Given the description of an element on the screen output the (x, y) to click on. 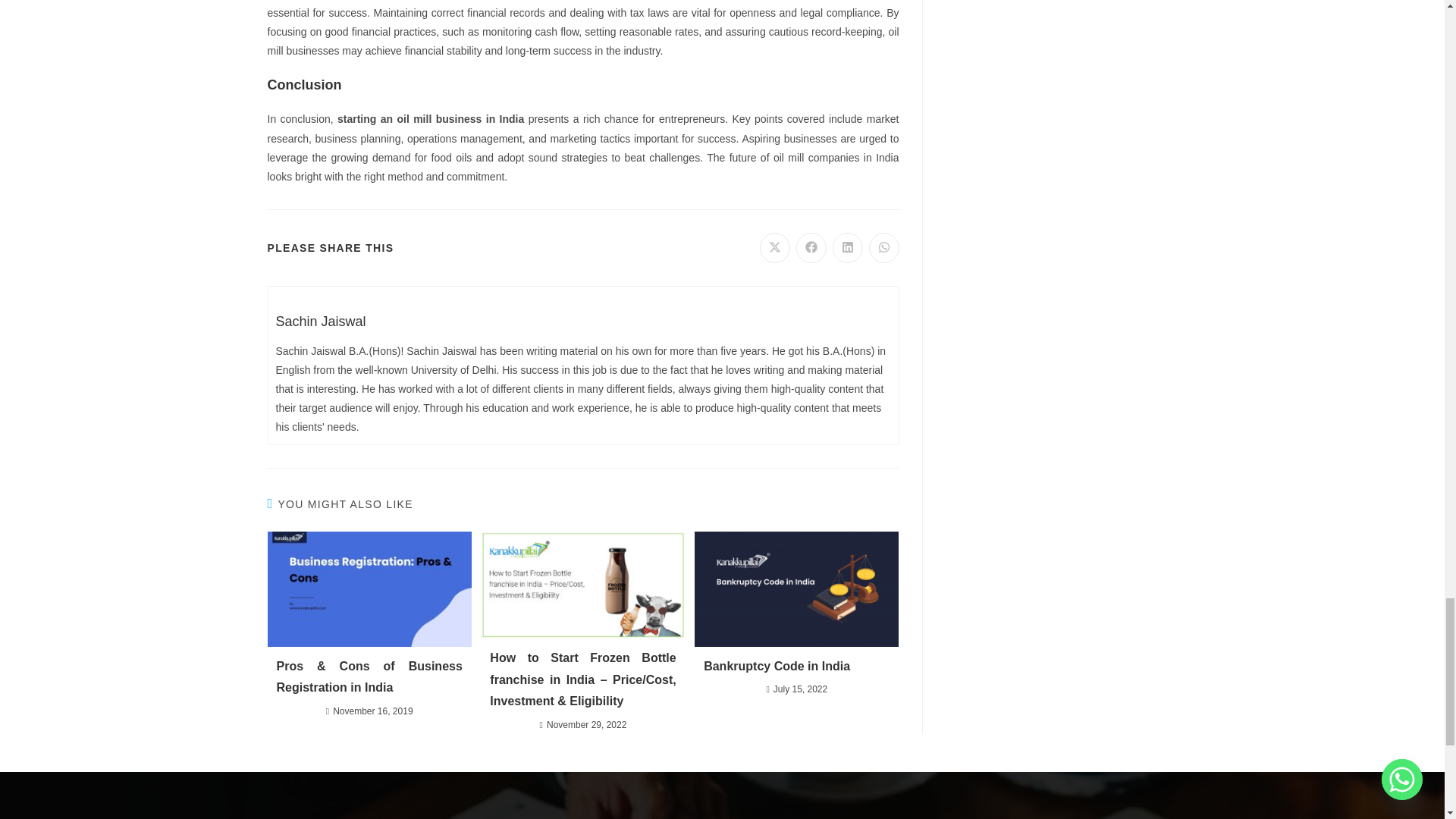
Visit author page (321, 321)
